Given the description of an element on the screen output the (x, y) to click on. 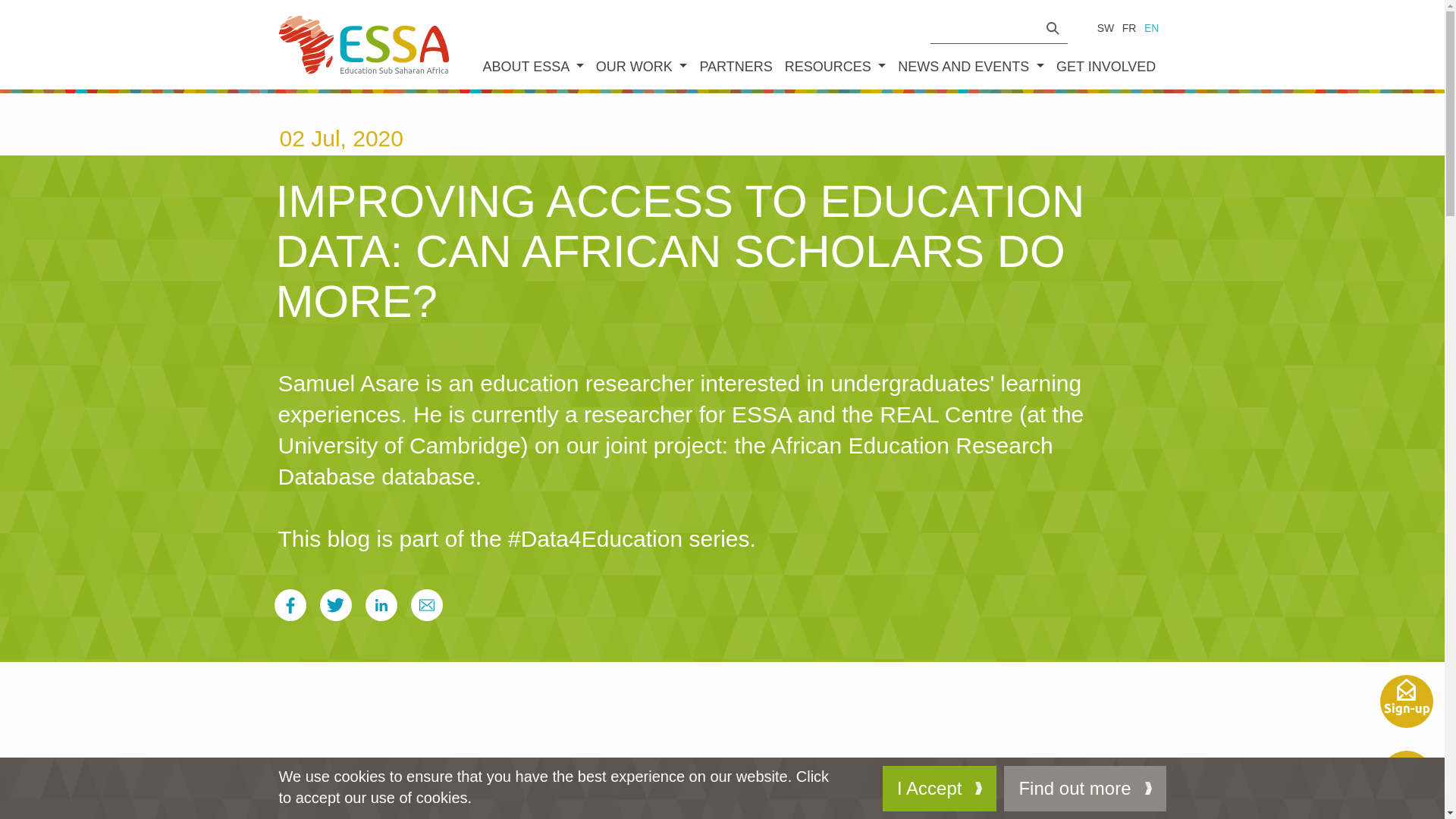
ABOUT ESSA (532, 66)
FR (1128, 28)
SW (1105, 28)
I Accept (938, 788)
RESOURCES (835, 66)
OUR WORK (641, 66)
NEWS AND EVENTS (970, 66)
GET INVOLVED (1105, 66)
Find out more (1085, 788)
PARTNERS (735, 66)
EN (1150, 28)
